Given the description of an element on the screen output the (x, y) to click on. 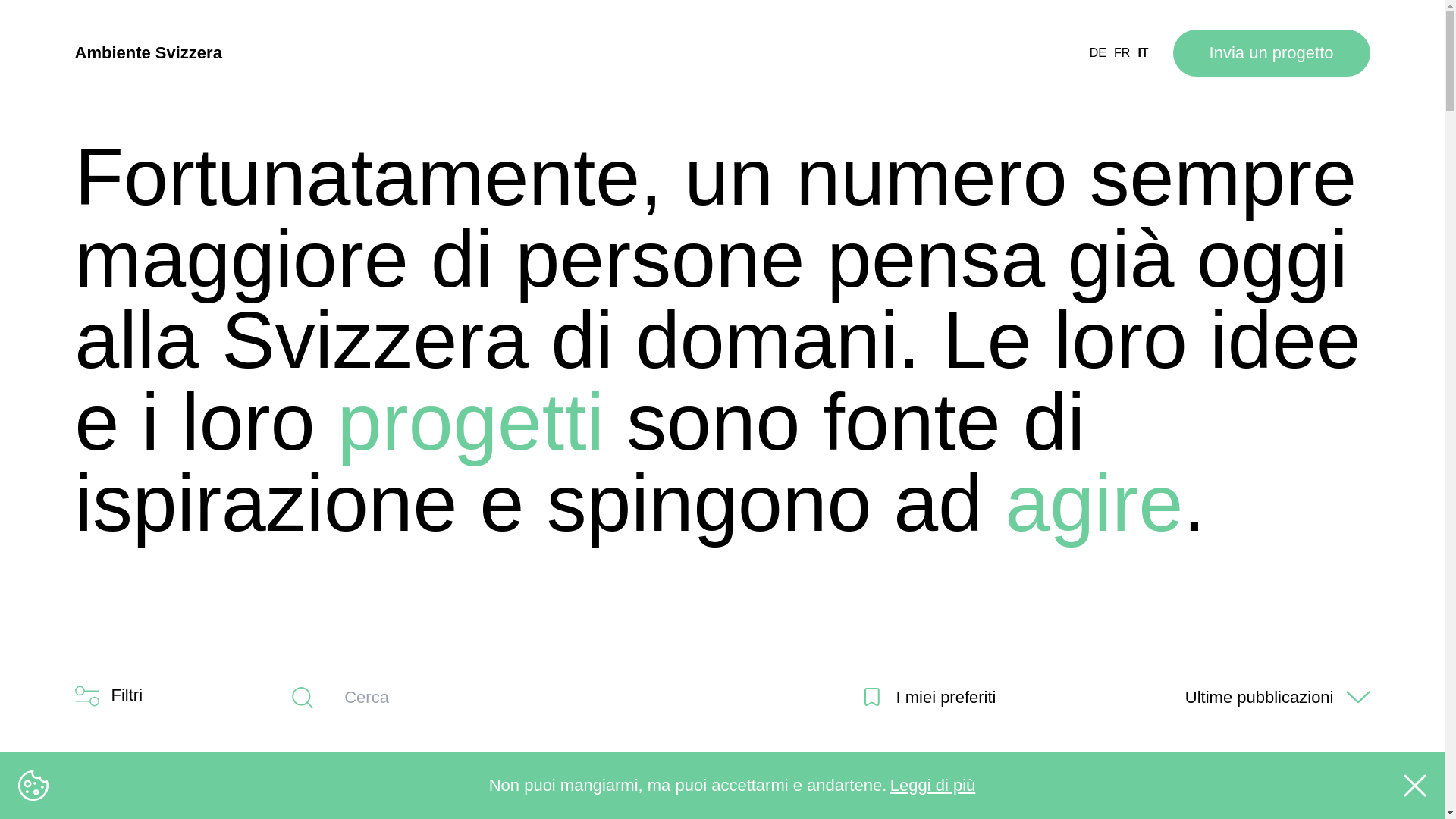
progetti Element type: text (470, 421)
IT Element type: text (1142, 52)
Filtri Element type: text (108, 697)
FR Element type: text (1121, 52)
Invia un progetto Element type: text (1271, 52)
eslint-disable
I miei preferiti Element type: text (929, 697)
agire Element type: text (1093, 502)
Ambiente Svizzera Element type: text (147, 52)
DE Element type: text (1097, 52)
